Given the description of an element on the screen output the (x, y) to click on. 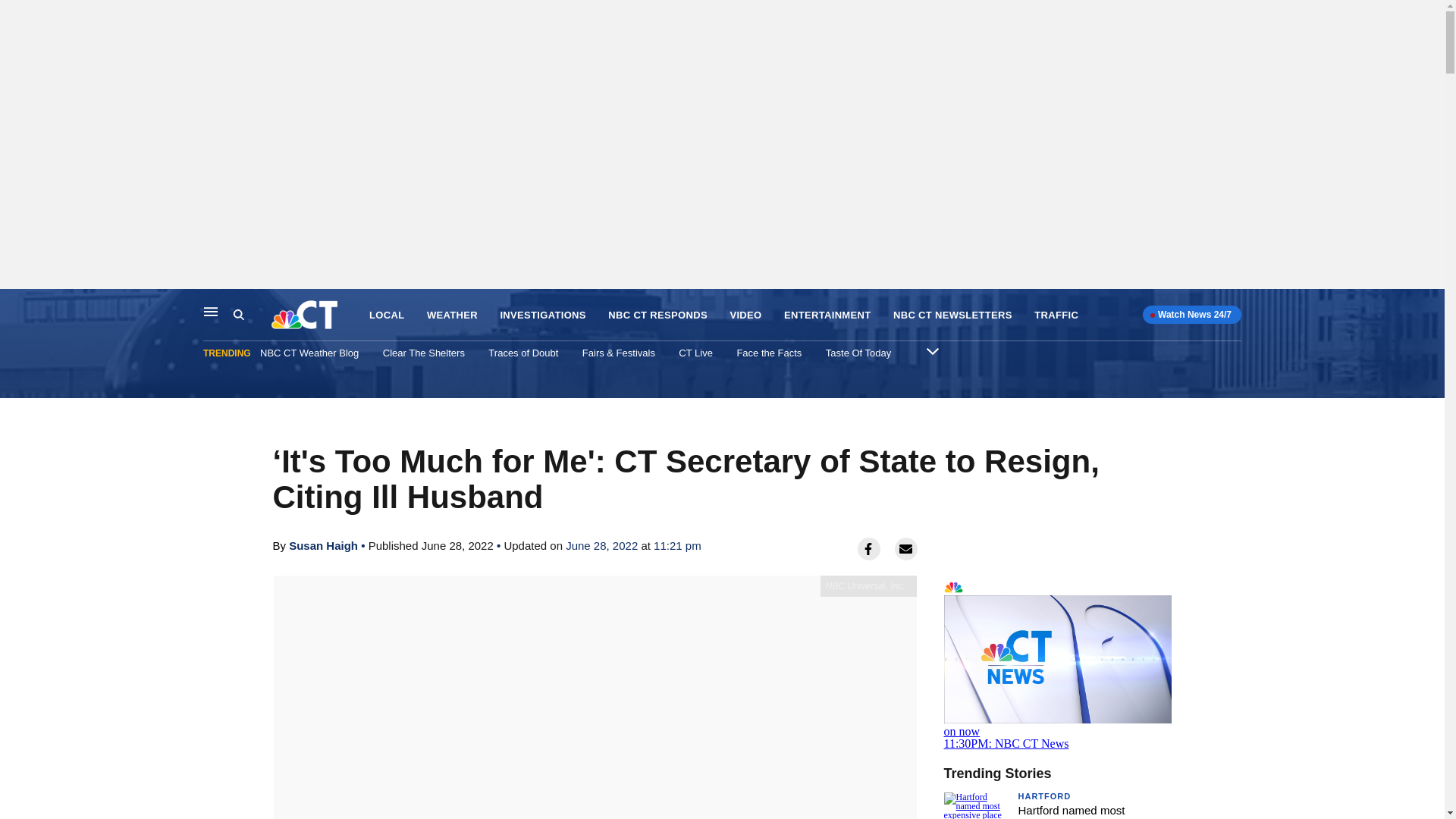
NBC CT RESPONDS (1056, 662)
NBC CT Weather Blog (657, 315)
CT Live (309, 352)
Search (695, 352)
LOCAL (252, 314)
ENTERTAINMENT (386, 315)
HARTFORD (827, 315)
Susan Haigh (1043, 795)
Clear The Shelters (323, 545)
